Given the description of an element on the screen output the (x, y) to click on. 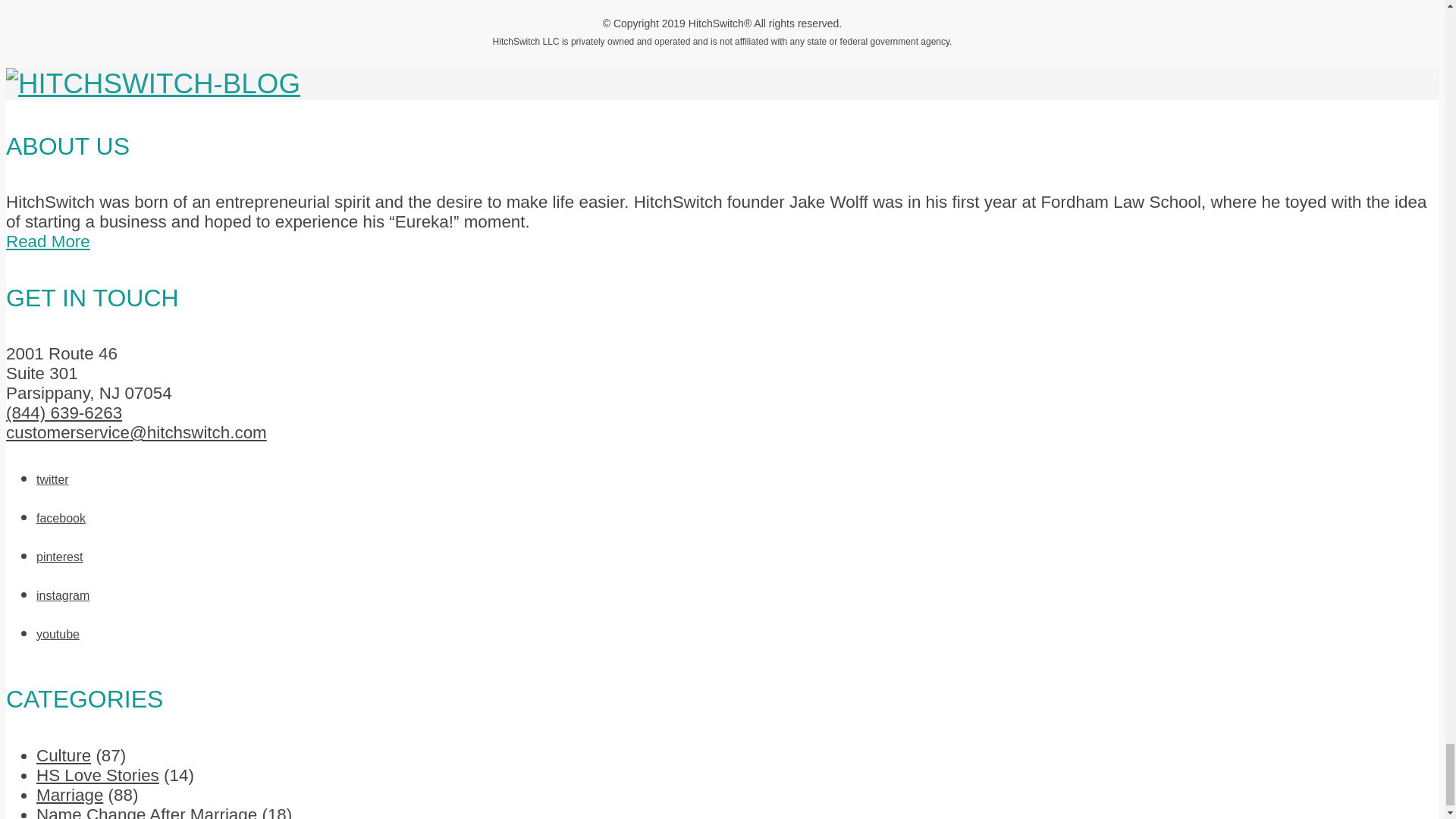
Instagram (62, 594)
Pinterest (59, 556)
Facebook (60, 517)
Email us (135, 432)
